Given the description of an element on the screen output the (x, y) to click on. 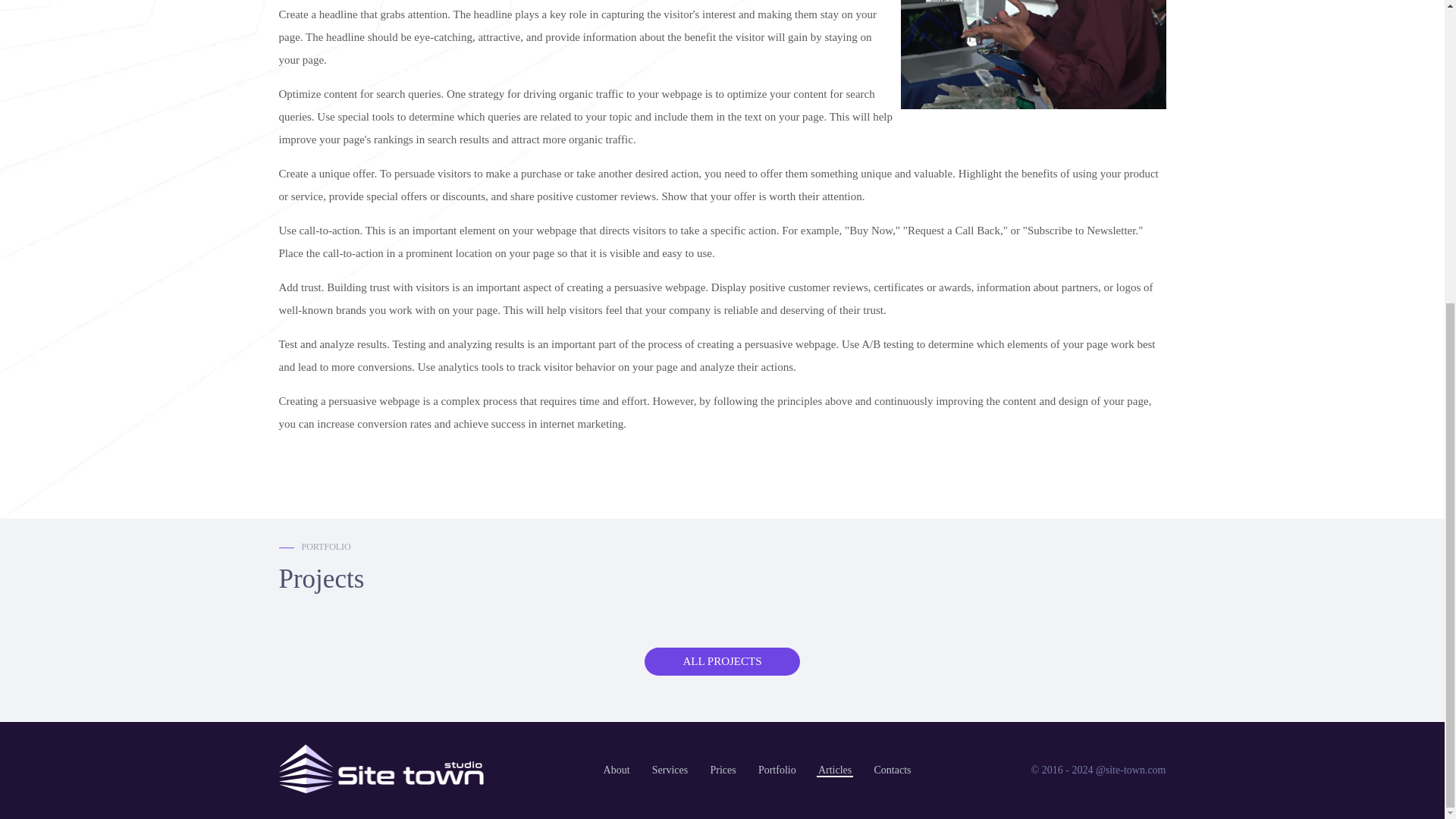
Contacts (892, 770)
Articles (834, 770)
About (616, 770)
Services (669, 770)
Prices (721, 770)
ALL PROJECTS (722, 661)
Portfolio (777, 770)
